Given the description of an element on the screen output the (x, y) to click on. 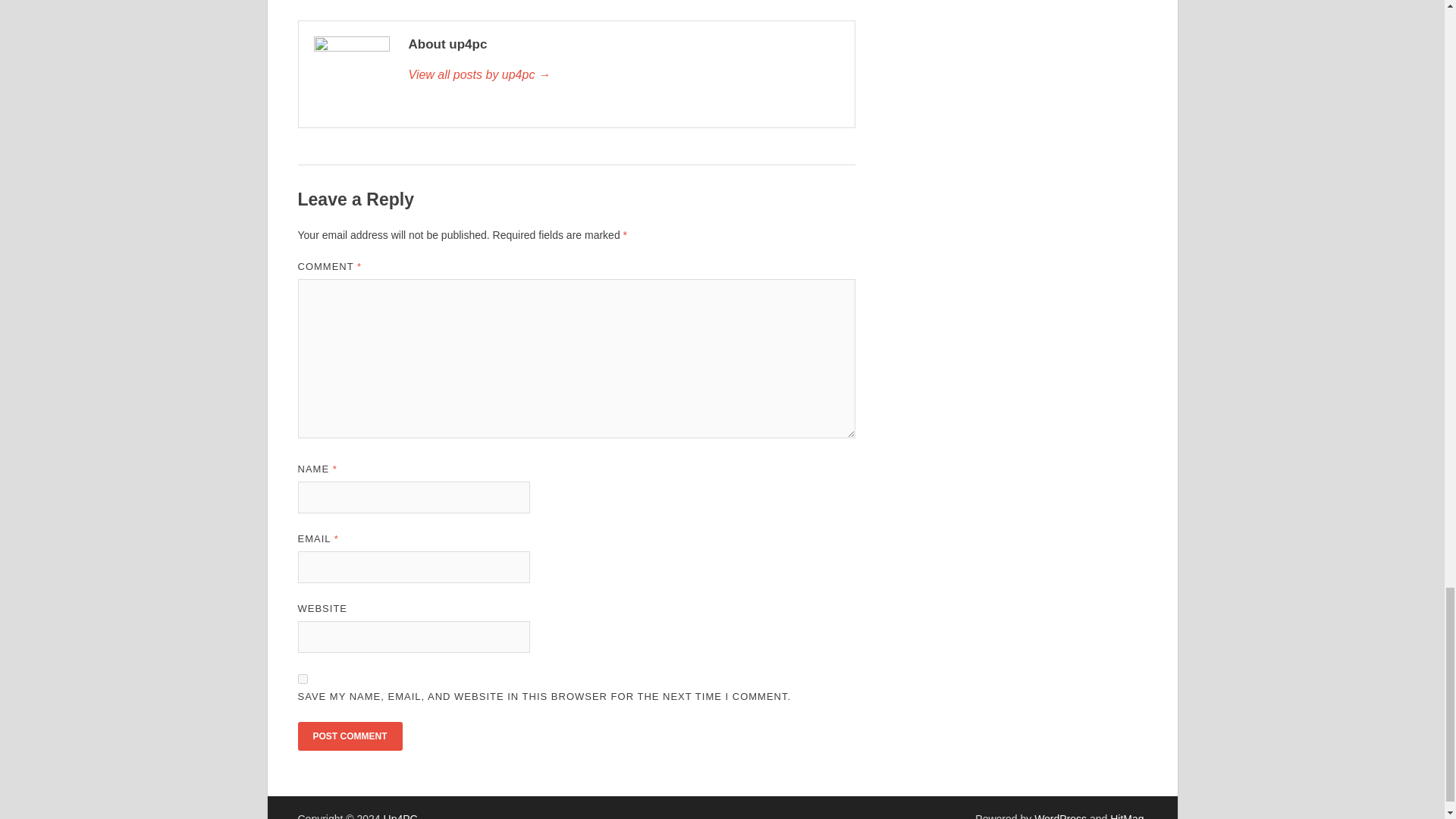
yes (302, 678)
Post Comment (349, 736)
